Given the description of an element on the screen output the (x, y) to click on. 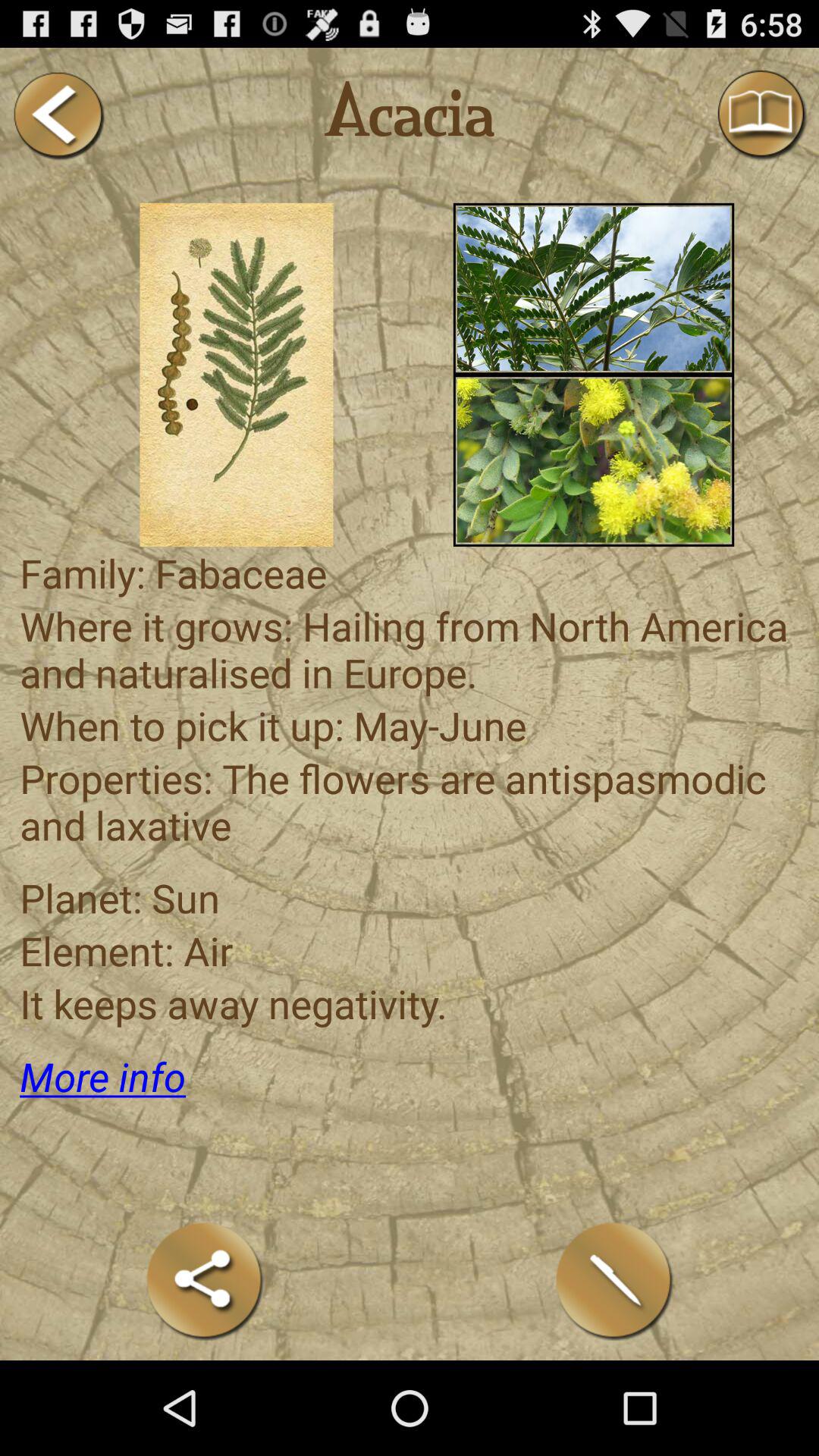
go to image (593, 460)
